Given the description of an element on the screen output the (x, y) to click on. 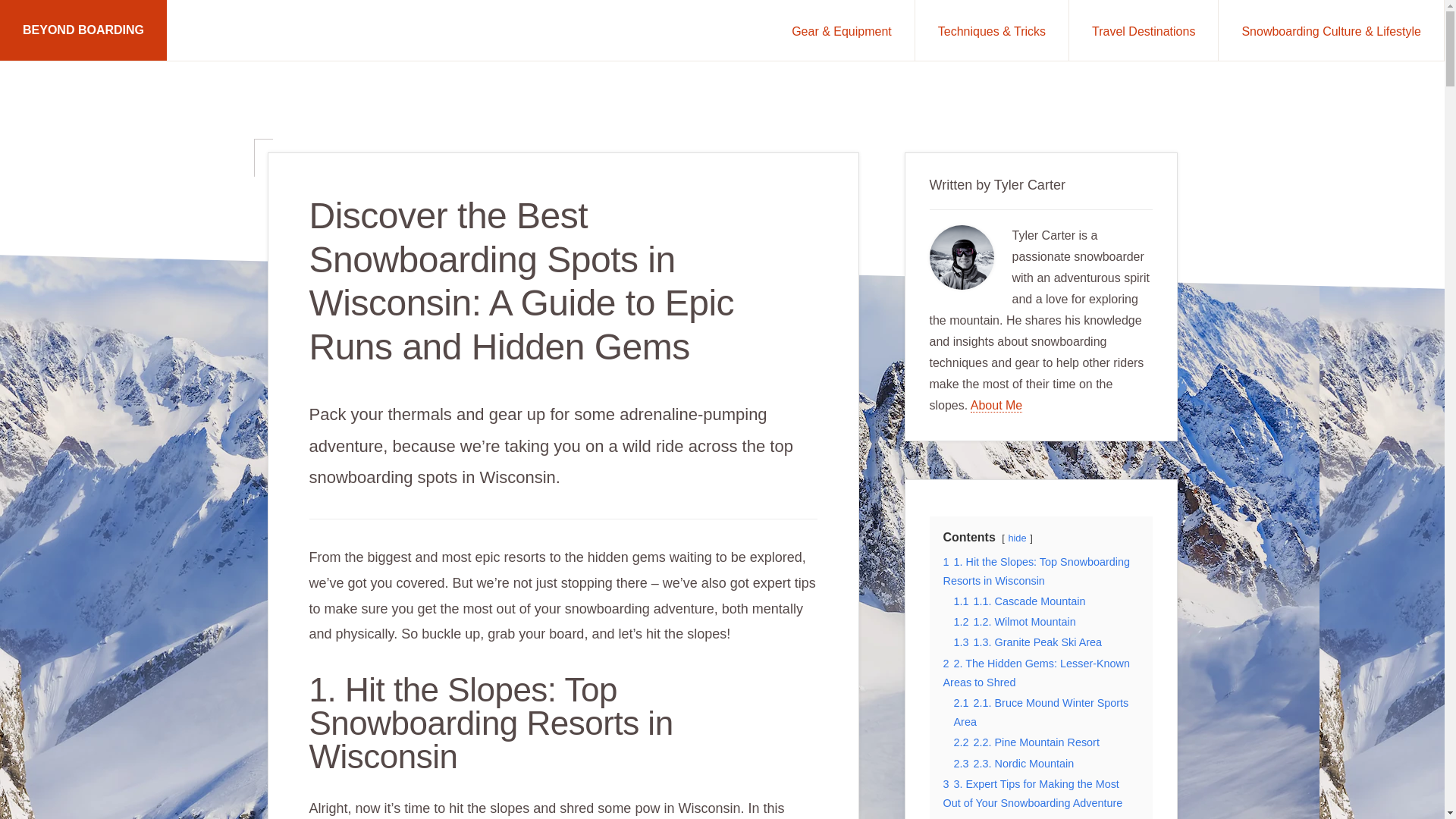
ABOUT (284, 775)
CONTACT (347, 775)
1.1 1.1. Cascade Mountain (1019, 601)
hide (1016, 537)
Travel Destinations (1142, 30)
About Me (996, 405)
BEYOND BOARDING (83, 30)
2.1 2.1. Bruce Mound Winter Sports Area (1041, 712)
2.2 2.2. Pine Mountain Resort (1026, 742)
2.3 2.3. Nordic Mountain (1013, 763)
1.3 1.3. Granite Peak Ski Area (1027, 642)
1 1. Hit the Slopes: Top Snowboarding Resorts in Wisconsin (1037, 571)
